Given the description of an element on the screen output the (x, y) to click on. 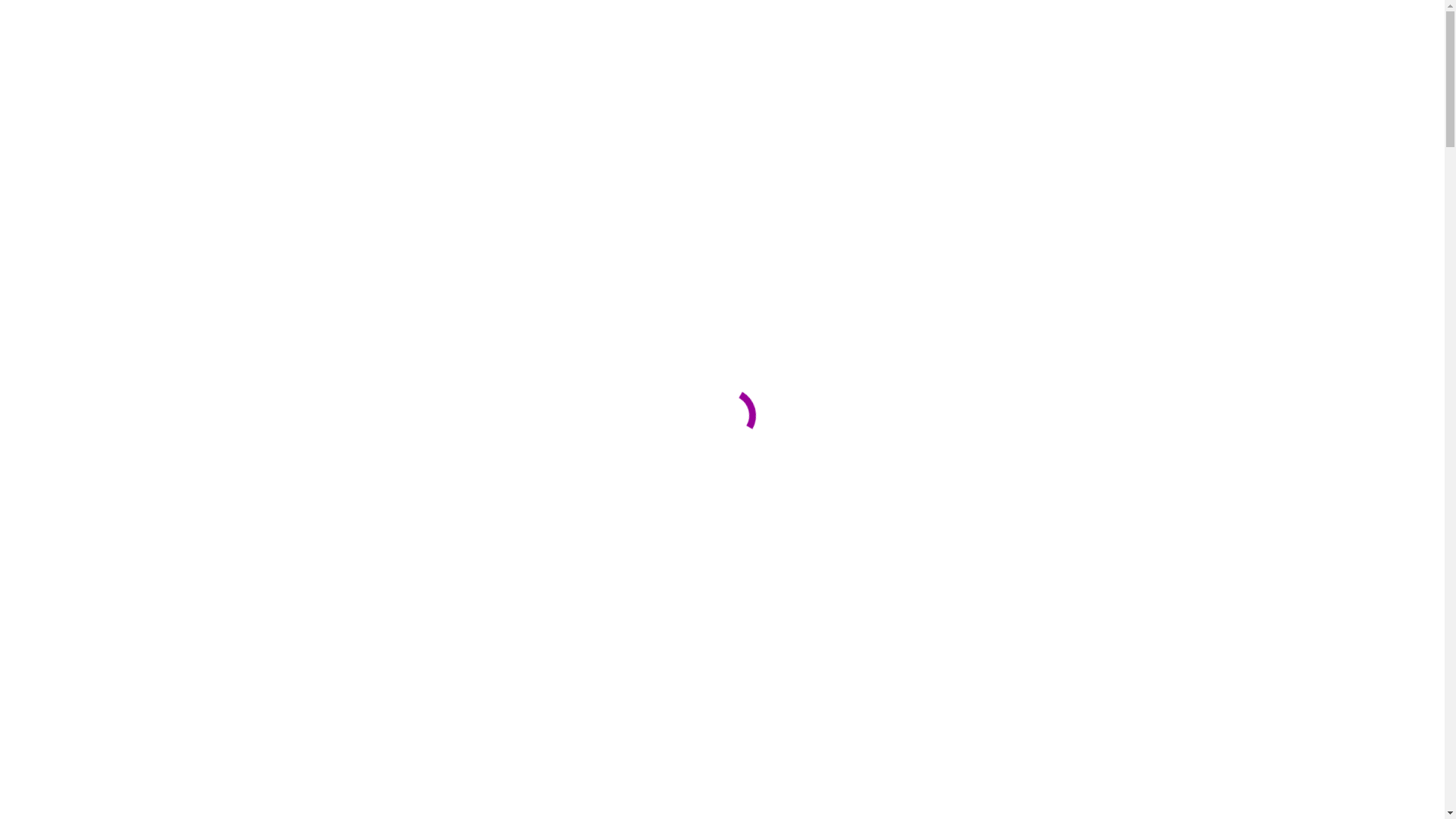
Digitale Bilder Element type: text (102, 278)
Acrylbilder Element type: text (94, 144)
Skip to content Element type: text (5, 5)
Digitale Bilder Element type: text (102, 157)
Kurse Element type: text (50, 171)
Acrylbilder Element type: text (94, 264)
Instagram page opens in new window Element type: text (24, 211)
Ausstellungen Element type: text (71, 184)
Galerie Element type: text (54, 250)
Facebook page opens in new window Element type: text (12, 211)
Galerie Element type: text (54, 130)
Ausstellungen Element type: text (71, 305)
Kurse Element type: text (50, 291)
